Given the description of an element on the screen output the (x, y) to click on. 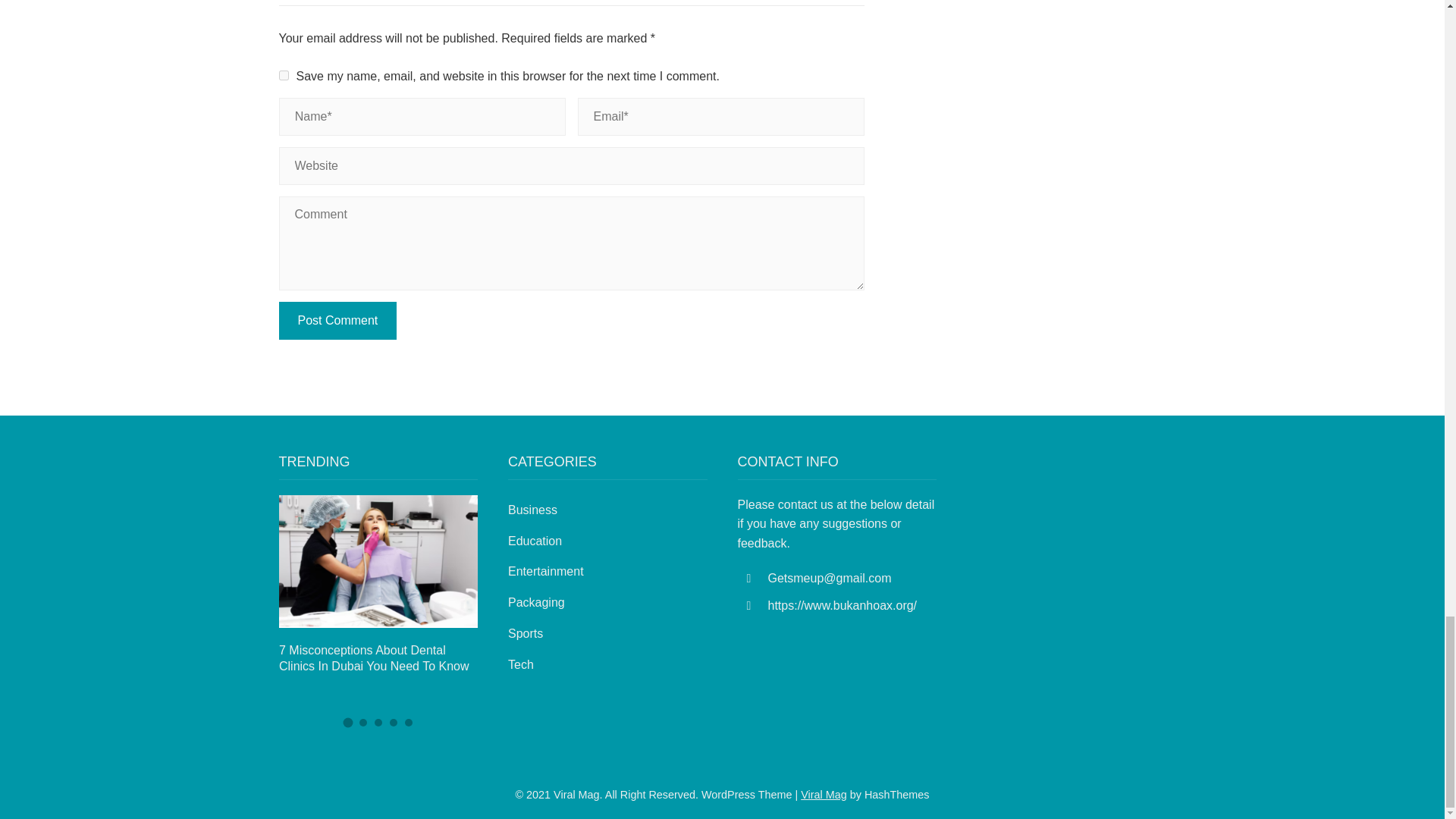
yes (283, 75)
Download Viral News (823, 794)
Post Comment (338, 320)
